Given the description of an element on the screen output the (x, y) to click on. 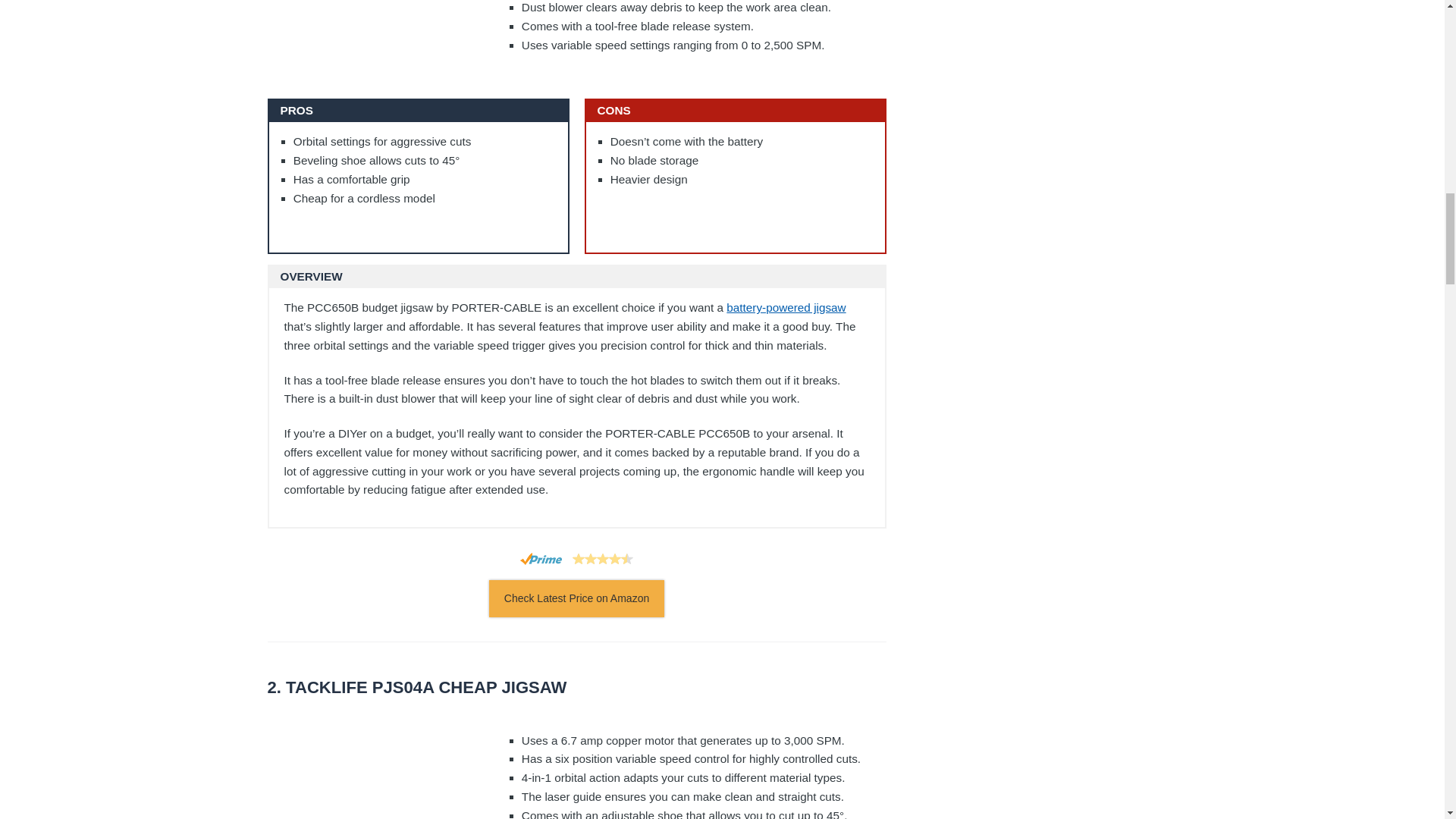
Tacklife PJS04A Cheap Jigsaw (575, 688)
Check Latest Price on Amazon (576, 598)
battery-powered jigsaw (785, 307)
Check Latest Price on Amazon (576, 598)
